Given the description of an element on the screen output the (x, y) to click on. 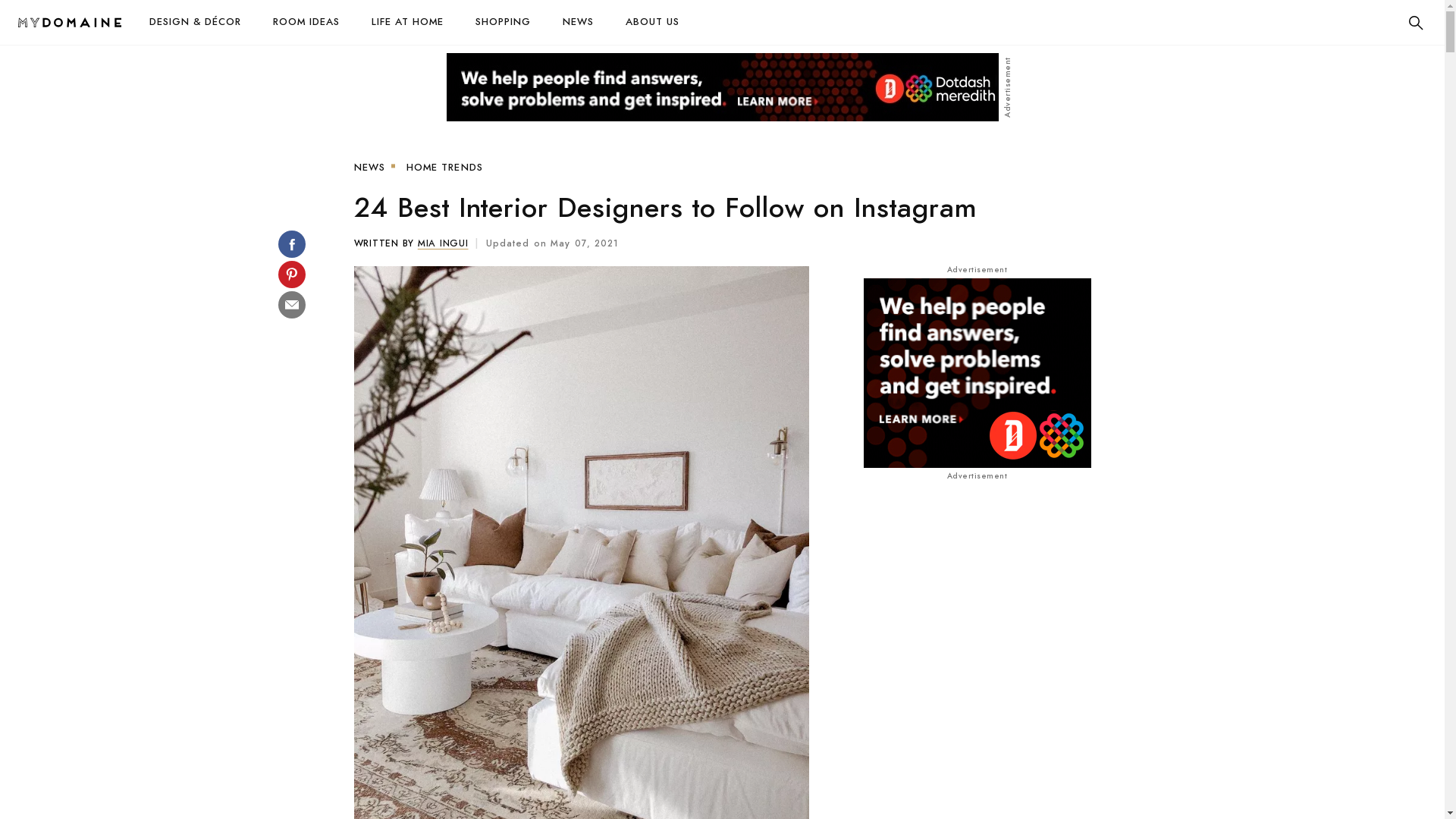
ROOM IDEAS Element type: text (306, 22)
3rd party ad content Element type: hover (721, 87)
Emailshare Element type: hover (290, 304)
Search Element type: text (1415, 22)
NEWS Element type: text (368, 167)
NEWS Element type: text (577, 22)
Facebook Element type: hover (290, 243)
3rd party ad content Element type: hover (976, 372)
HOME TRENDS Element type: text (444, 167)
SHOPPING Element type: text (502, 22)
Pinterest Element type: hover (290, 274)
ABOUT US Element type: text (652, 22)
LIFE AT HOME Element type: text (407, 22)
MIA INGUI Element type: text (442, 242)
